Given the description of an element on the screen output the (x, y) to click on. 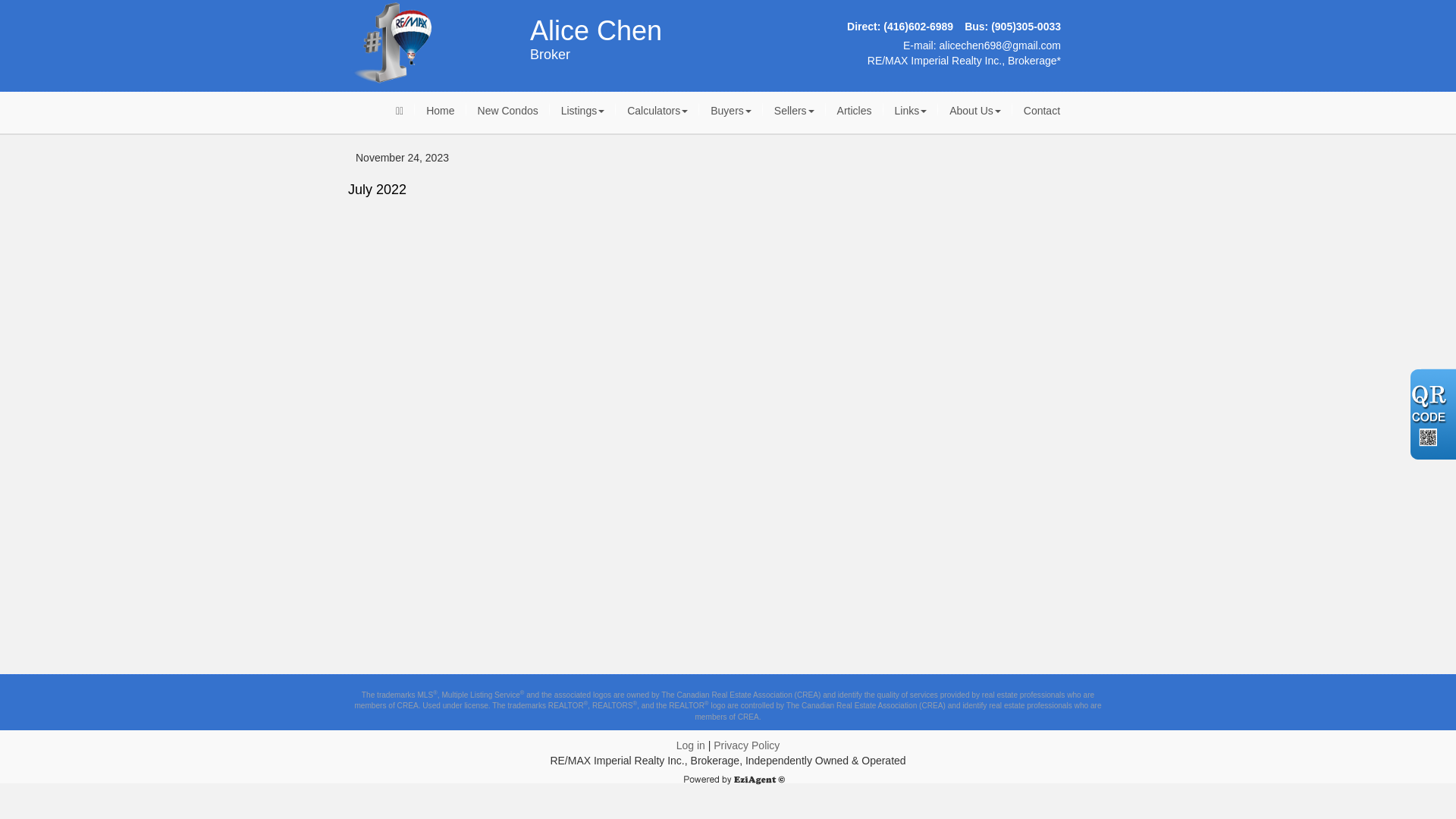
Listings Element type: text (582, 110)
Buyers Element type: text (730, 110)
Articles Element type: text (854, 110)
Contact Element type: text (1041, 110)
Links Element type: text (910, 110)
New Condos Element type: text (507, 110)
Privacy Policy Element type: text (746, 745)
About Us Element type: text (975, 110)
Log in Element type: text (690, 745)
Calculators Element type: text (657, 110)
Sellers Element type: text (793, 110)
Home Element type: text (439, 110)
